Given the description of an element on the screen output the (x, y) to click on. 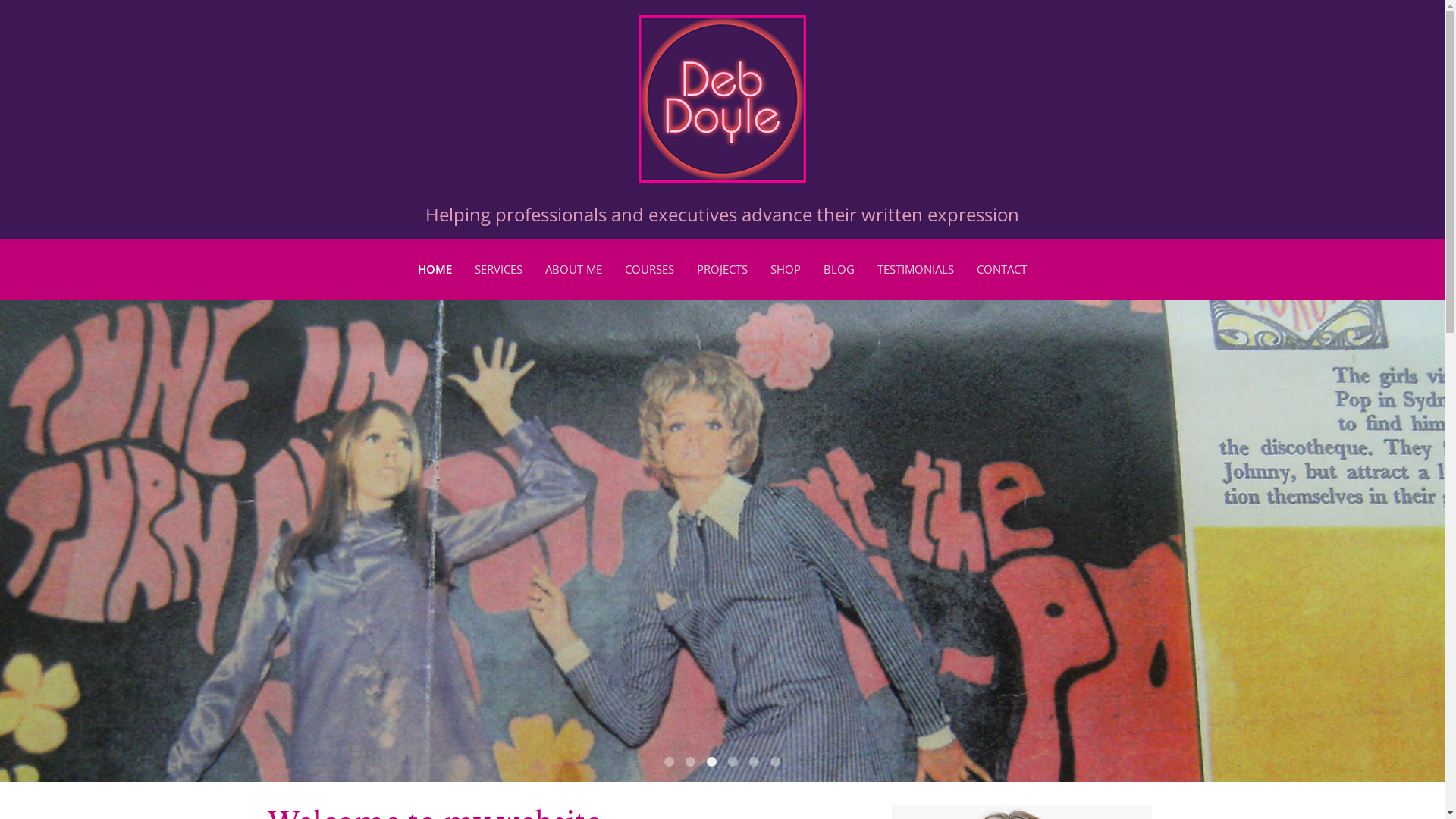
1a Element type: text (669, 761)
PROJECTS Element type: text (721, 269)
SERVICES Element type: text (498, 269)
5a Element type: text (754, 761)
SHOP Element type: text (785, 269)
COURSES Element type: text (649, 269)
CONTACT Element type: text (1001, 269)
ABOUT ME Element type: text (573, 269)
TESTIMONIALS Element type: text (915, 269)
2a Element type: text (690, 761)
BLOG Element type: text (838, 269)
HOME Element type: text (434, 269)
3a Element type: text (711, 761)
6a Element type: text (775, 761)
4a Element type: text (732, 761)
